Given the description of an element on the screen output the (x, y) to click on. 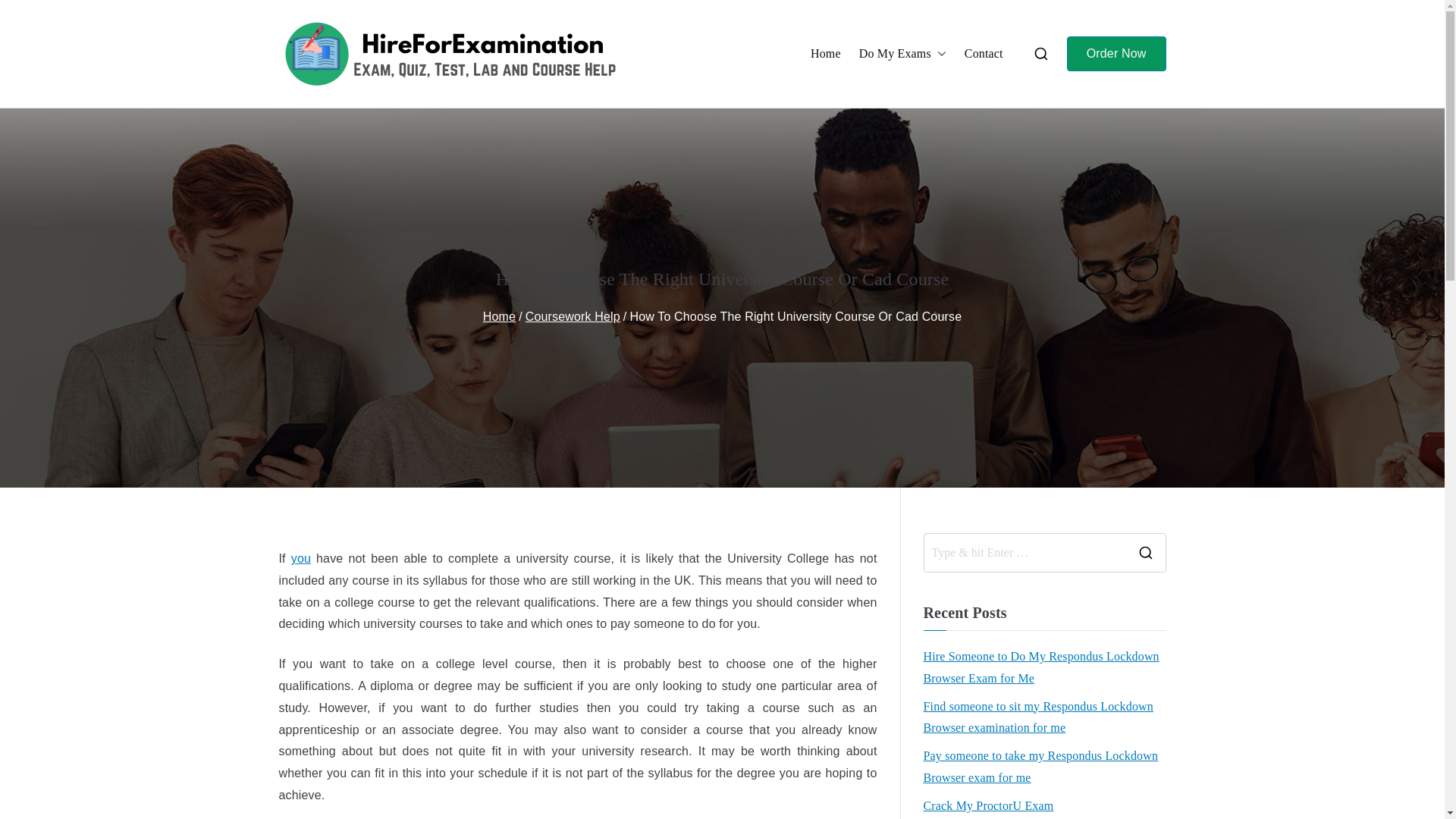
Search (26, 12)
Home (499, 316)
Coursework Help (572, 316)
Home (825, 54)
Do My Exams (902, 54)
Contact (983, 54)
Search for: (1024, 552)
Order Now (1116, 54)
you (301, 558)
